Given the description of an element on the screen output the (x, y) to click on. 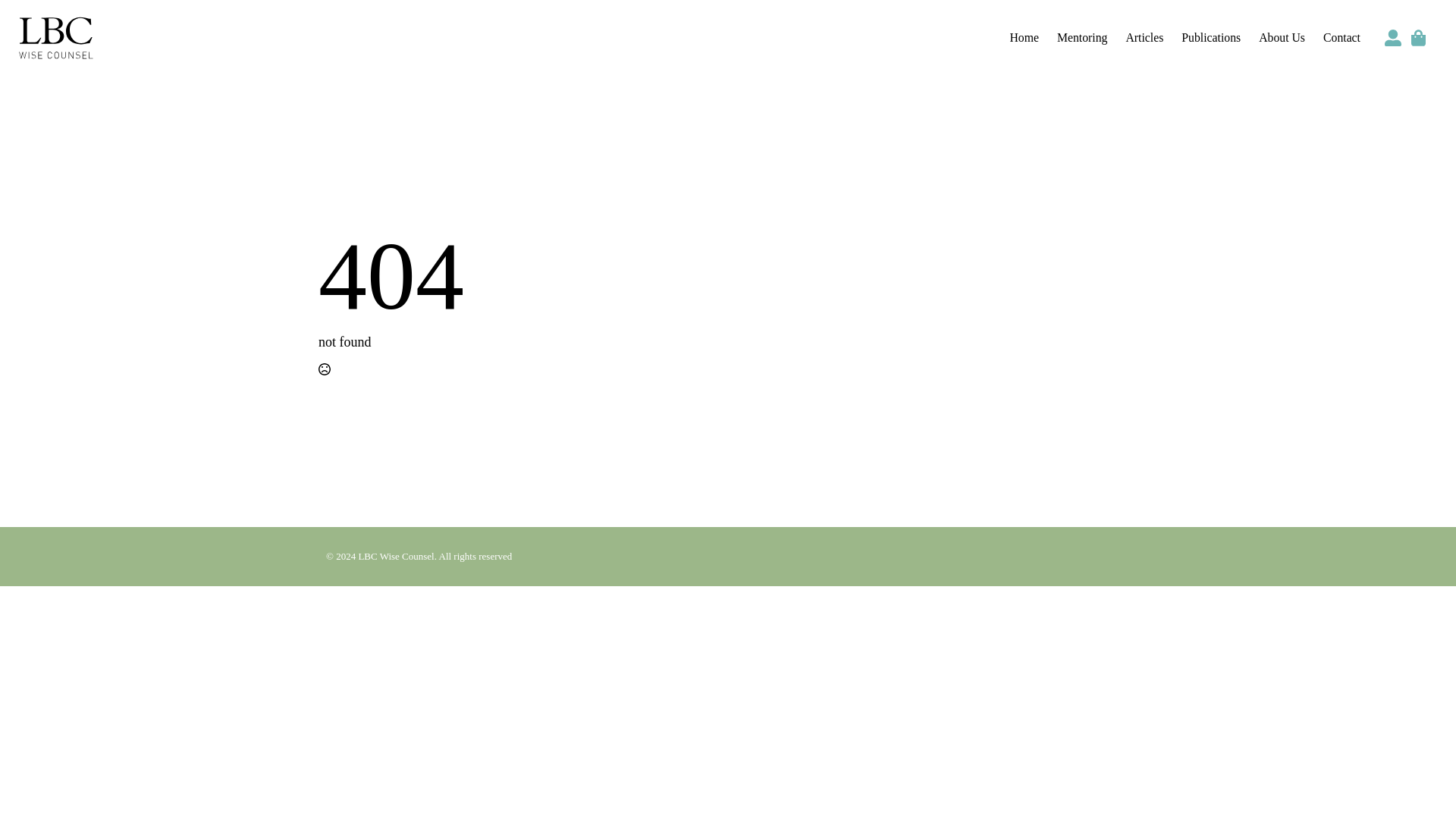
About Us (1281, 39)
Articles (1144, 39)
Contact (1341, 39)
Publications (1210, 39)
Home (1024, 39)
Mentoring (1082, 39)
